Given the description of an element on the screen output the (x, y) to click on. 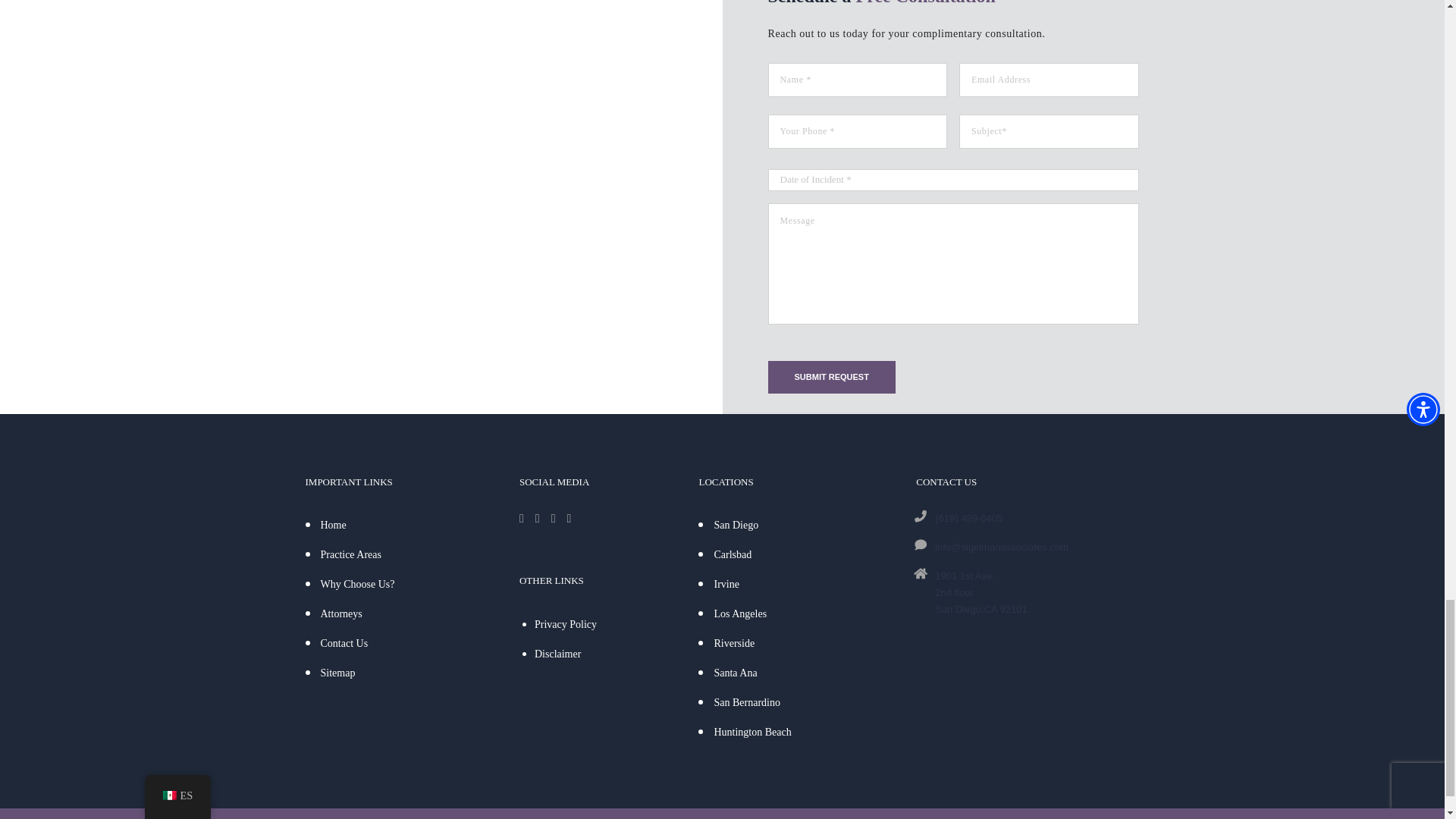
Submit Request (831, 377)
